Given the description of an element on the screen output the (x, y) to click on. 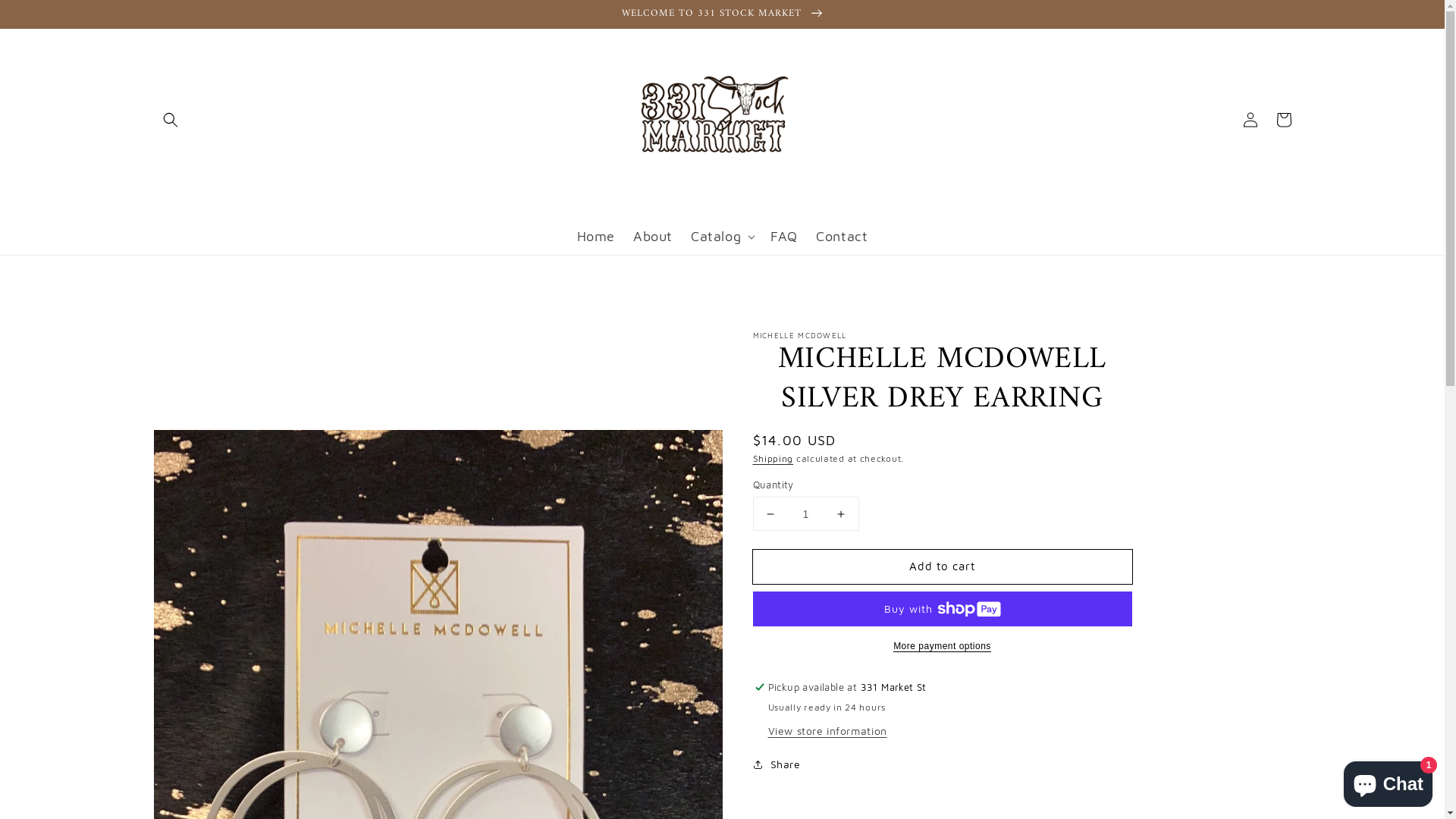
Increase quantity for MICHELLE MCDOWELL SILVER DREY EARRING Element type: text (840, 513)
Cart Element type: text (1282, 119)
Skip to product information     Element type: text (437, 368)
FAQ Element type: text (783, 236)
View store information Element type: text (826, 731)
Shopify online store chat Element type: hover (1388, 780)
Shipping Element type: text (772, 458)
Home Element type: text (595, 236)
WELCOME TO 331 STOCK MARKET Element type: text (722, 14)
Log in Element type: text (1249, 119)
Contact Element type: text (841, 236)
More payment options Element type: text (941, 645)
About Element type: text (652, 236)
Add to cart Element type: text (941, 566)
Decrease quantity for MICHELLE MCDOWELL SILVER DREY EARRING Element type: text (770, 513)
